Given the description of an element on the screen output the (x, y) to click on. 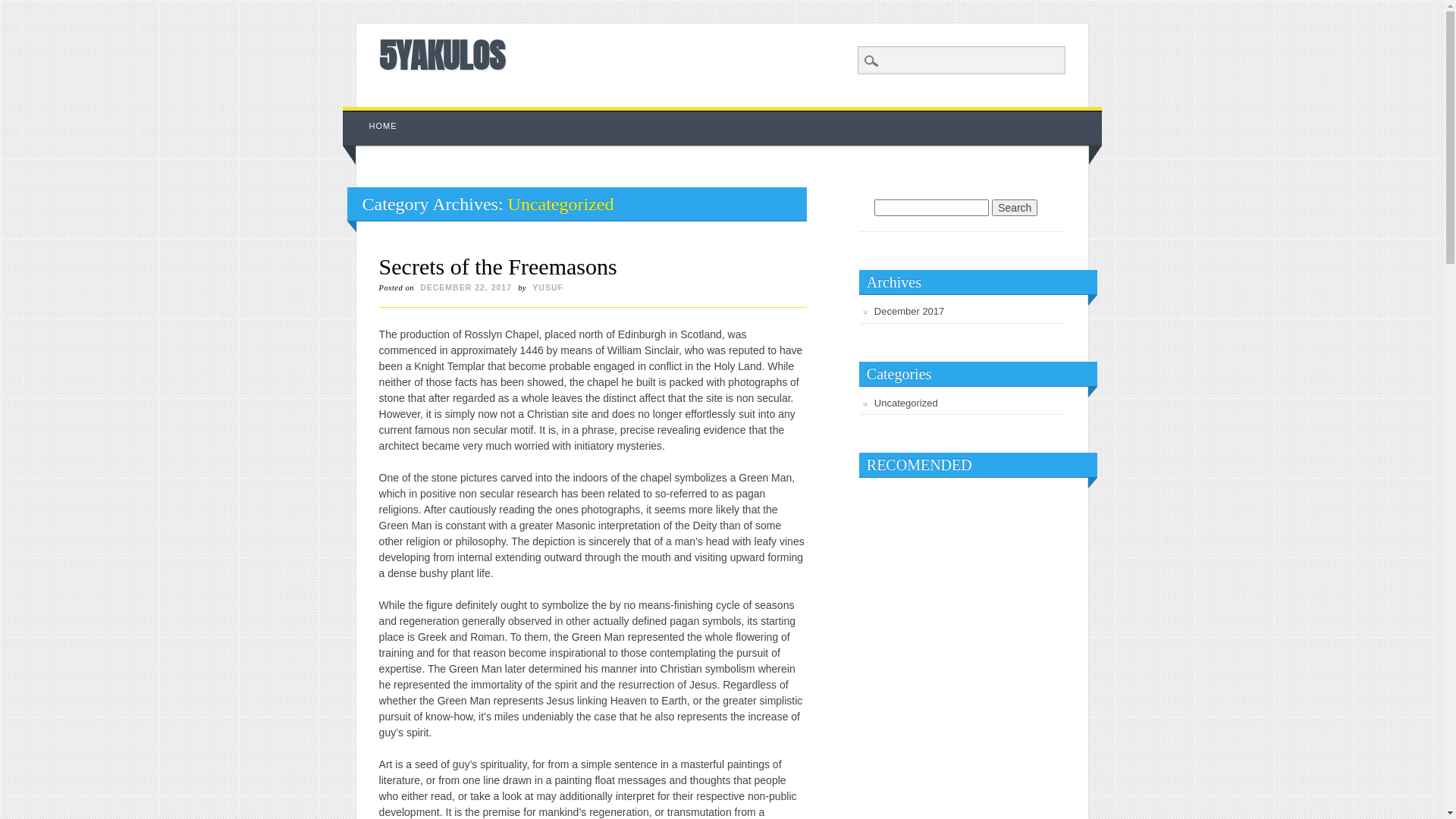
December 2017 Element type: text (909, 310)
Secrets of the Freemasons Element type: text (498, 266)
Skip to content Element type: text (377, 114)
HOME Element type: text (383, 125)
Uncategorized Element type: text (906, 402)
DECEMBER 22, 2017 Element type: text (465, 286)
YUSUF Element type: text (547, 286)
Search Element type: text (1014, 207)
5YAKULOS Element type: text (442, 55)
Search Element type: text (22, 8)
